Given the description of an element on the screen output the (x, y) to click on. 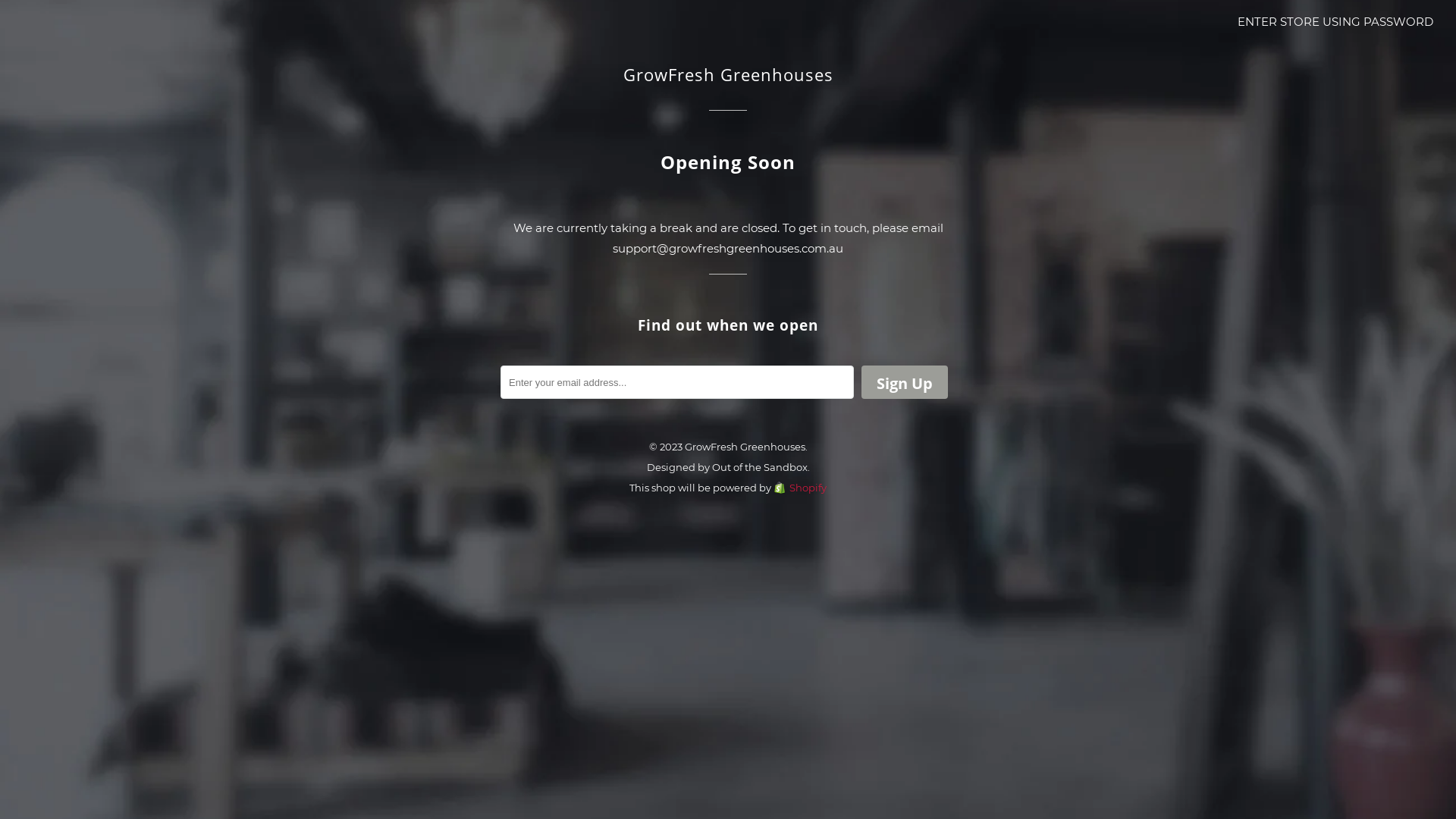
Enter Element type: text (727, 422)
Out of the Sandbox Element type: text (758, 467)
Shopify Element type: text (799, 487)
Sign Up Element type: text (904, 381)
ENTER STORE USING PASSWORD Element type: text (1335, 21)
